Given the description of an element on the screen output the (x, y) to click on. 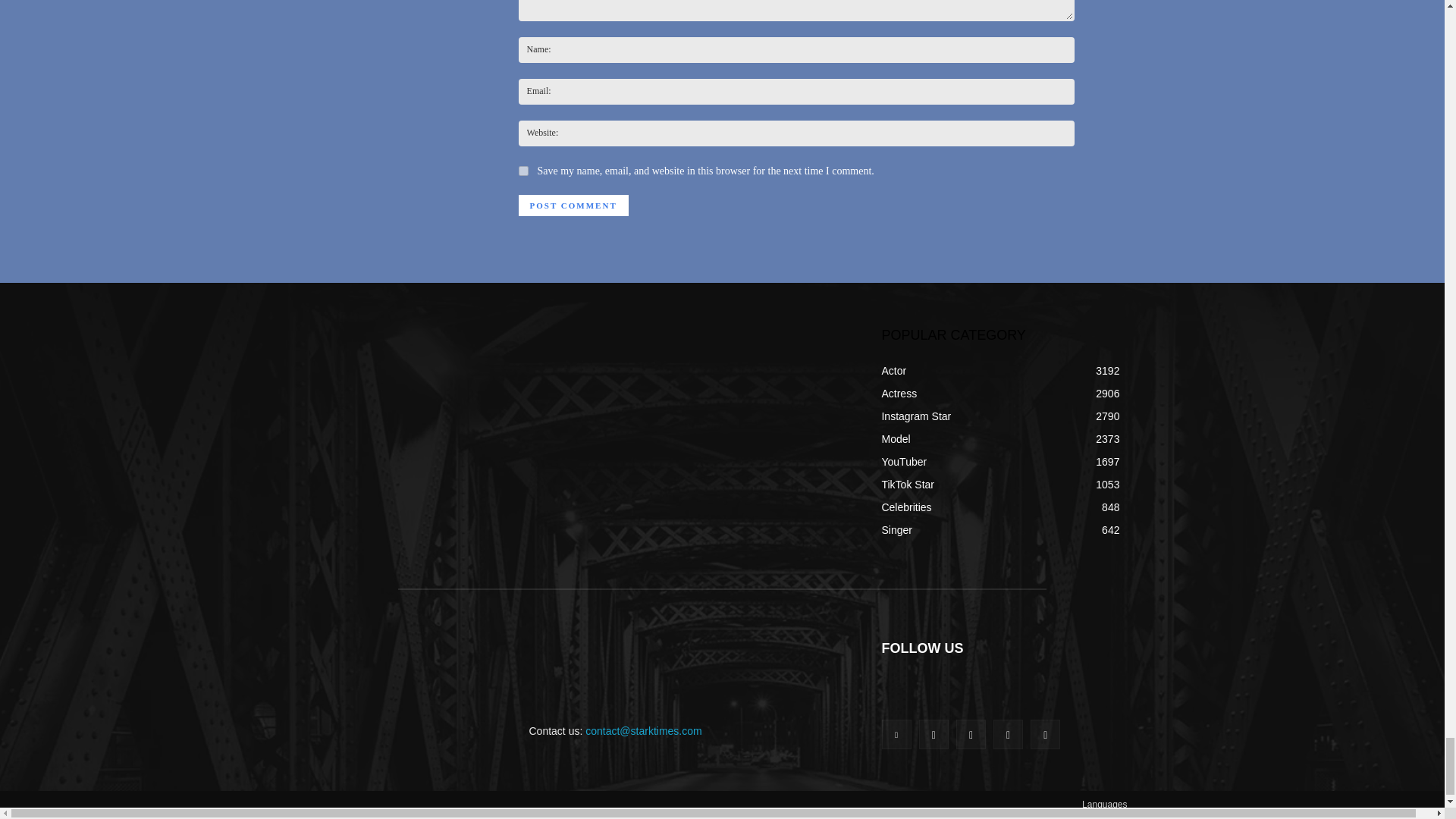
yes (523, 171)
Post Comment (573, 205)
